Given the description of an element on the screen output the (x, y) to click on. 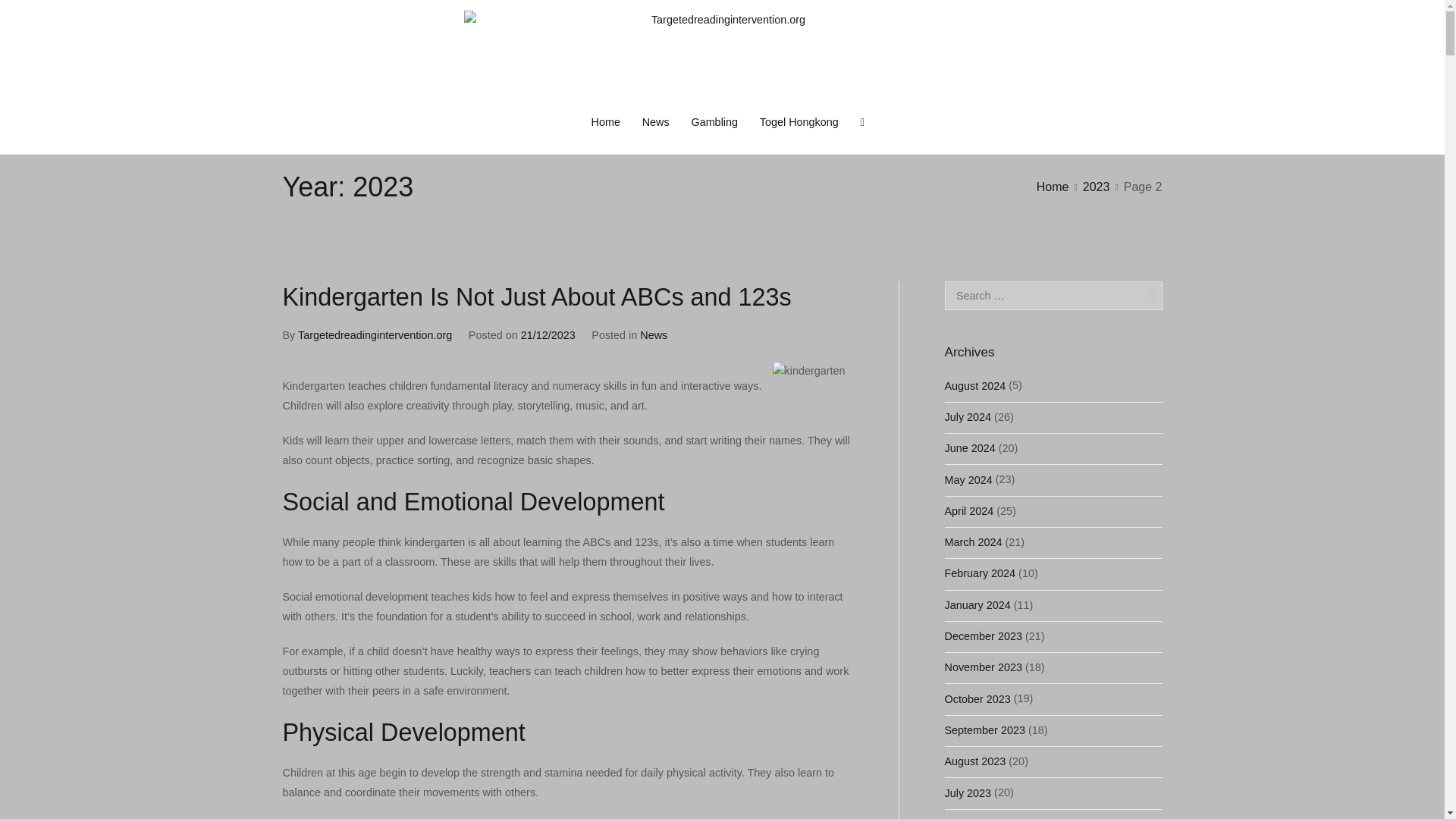
Kindergarten Is Not Just About ABCs and 123s (536, 297)
Togel Hongkong (799, 122)
Targetedreadingintervention.org (374, 335)
Targetedreadingintervention.org (823, 111)
Search (28, 13)
News (653, 335)
Home (605, 122)
Gambling (714, 122)
News (655, 122)
2023 (1096, 186)
